Given the description of an element on the screen output the (x, y) to click on. 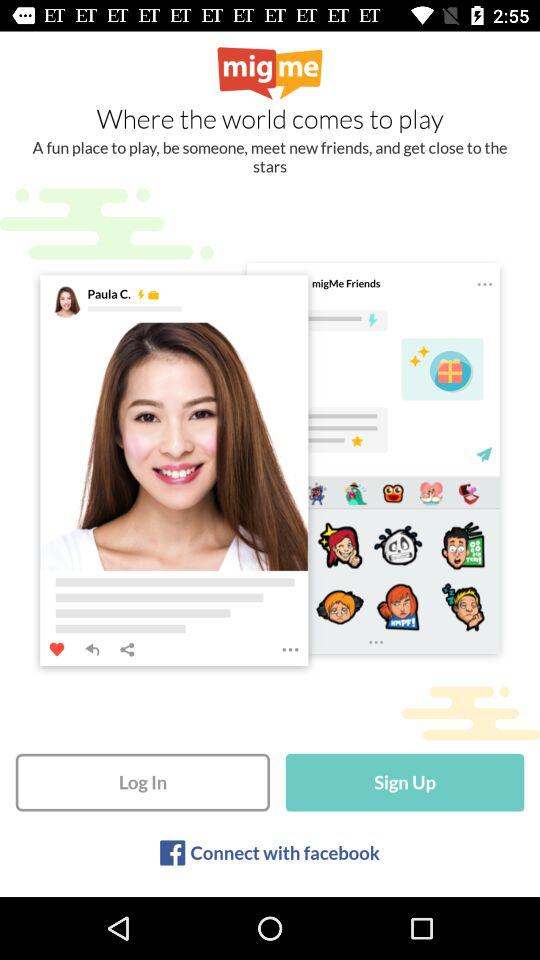
swipe until the connect with facebook (284, 852)
